Given the description of an element on the screen output the (x, y) to click on. 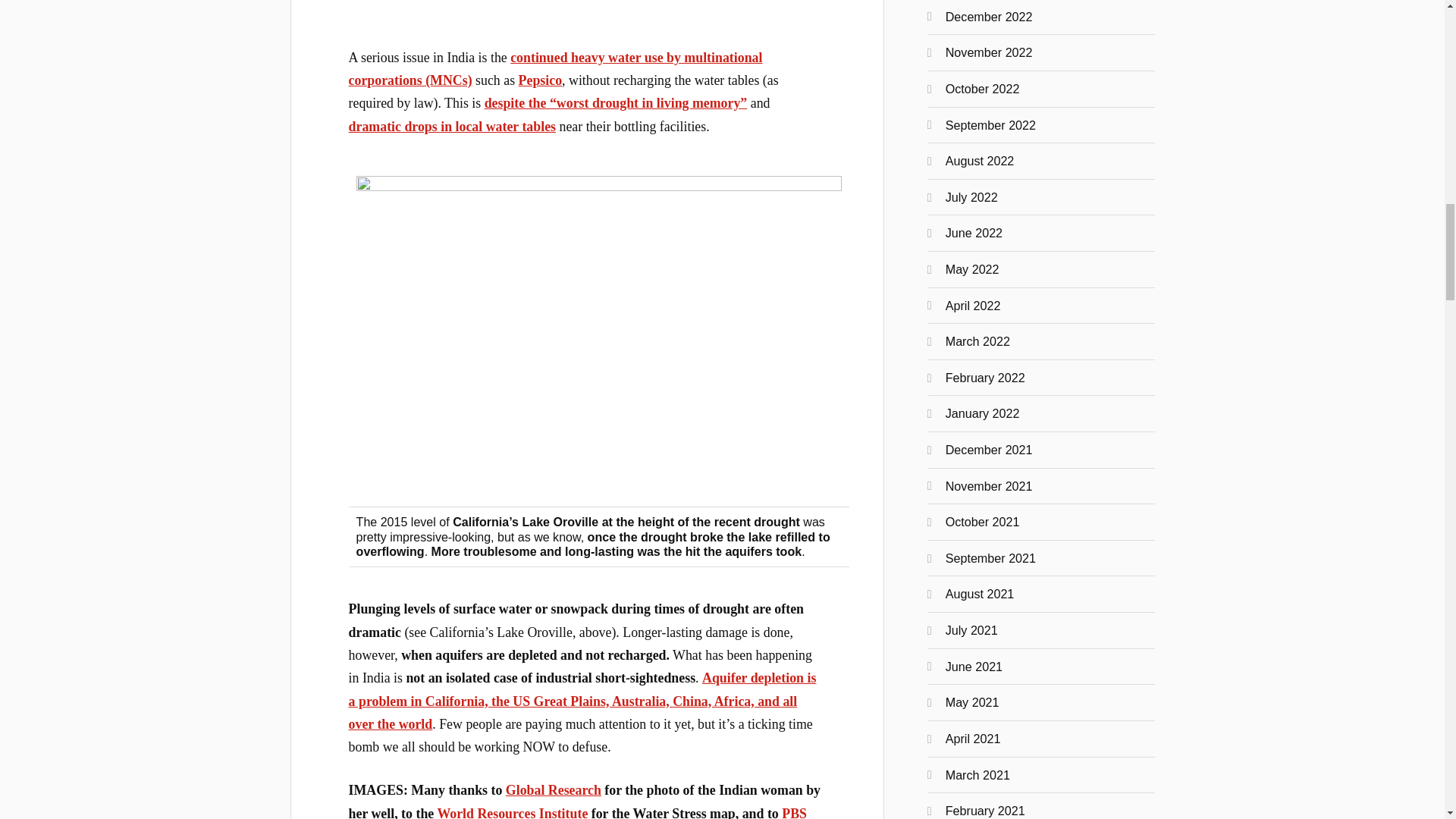
PBS NewsHour (577, 812)
Global Research (553, 789)
dramatic drops in local water tables (452, 126)
World Resources Institute (512, 812)
Pepsico (540, 79)
